Given the description of an element on the screen output the (x, y) to click on. 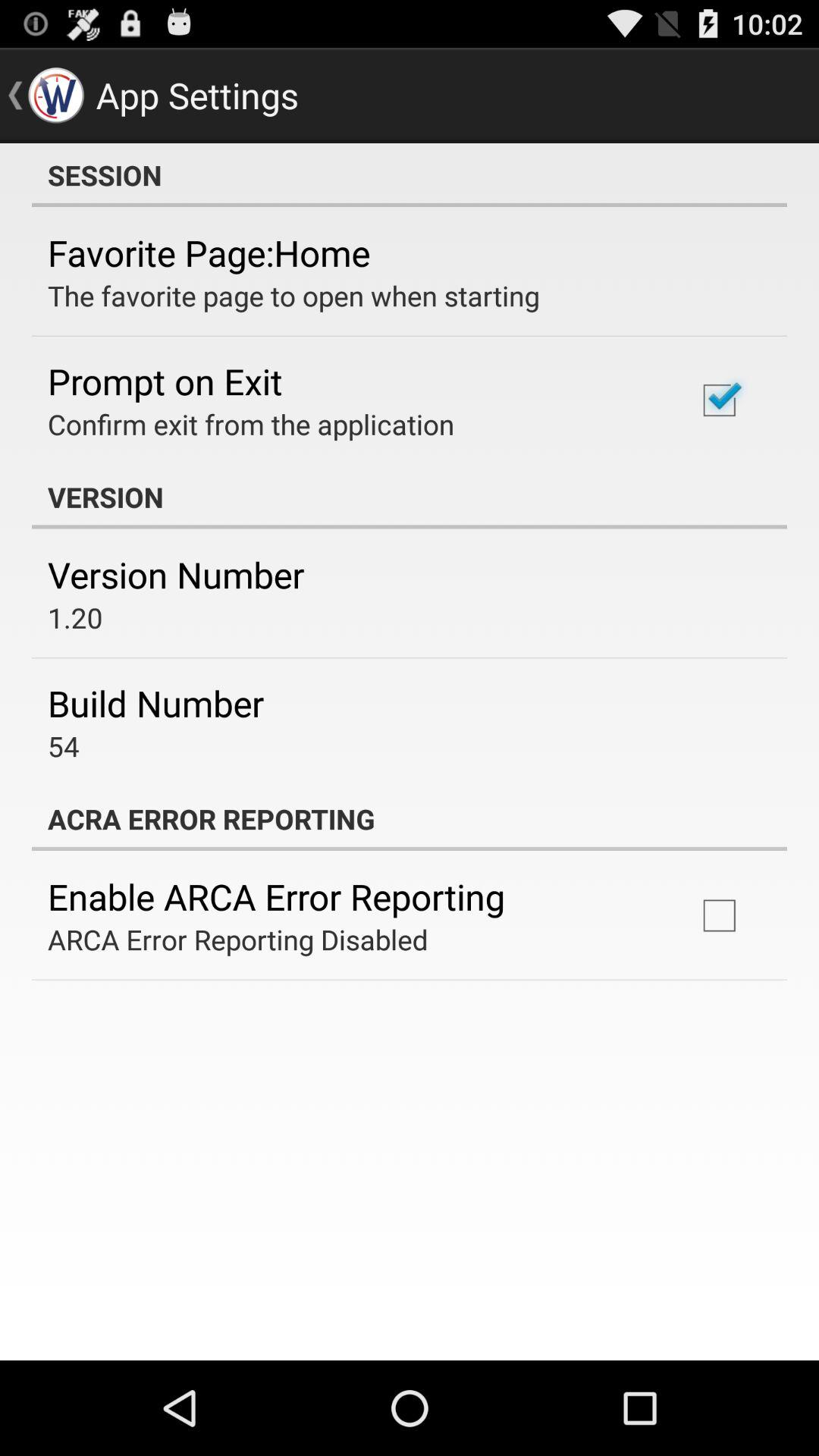
launch the prompt on exit app (164, 381)
